Given the description of an element on the screen output the (x, y) to click on. 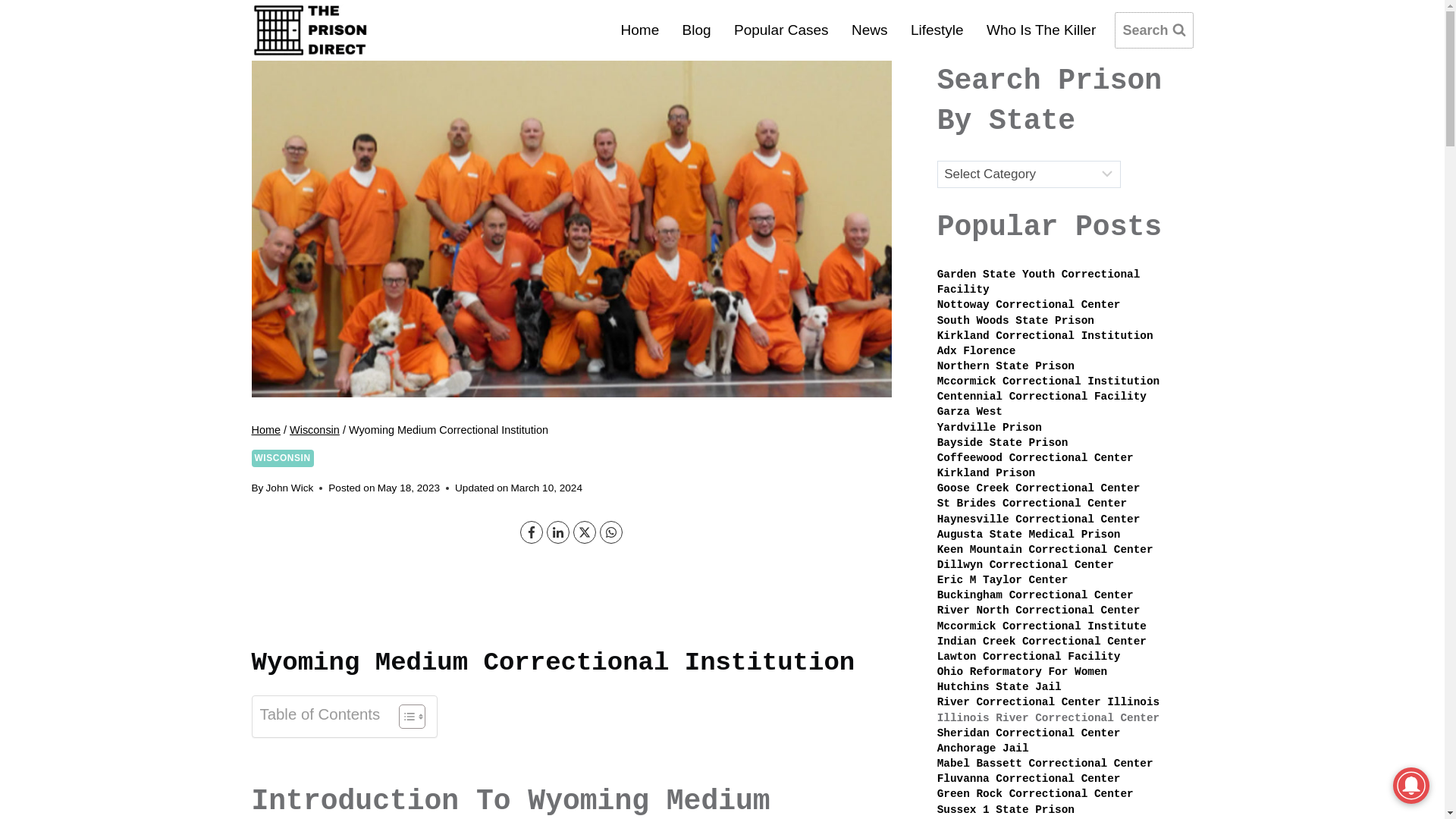
Home (638, 29)
Popular Cases (781, 29)
John Wick (290, 487)
Wisconsin (314, 429)
Blog (695, 29)
WISCONSIN (282, 457)
Home (266, 429)
Search (1153, 30)
Who Is The Killer (1041, 29)
Lifestyle (937, 29)
News (869, 29)
